Given the description of an element on the screen output the (x, y) to click on. 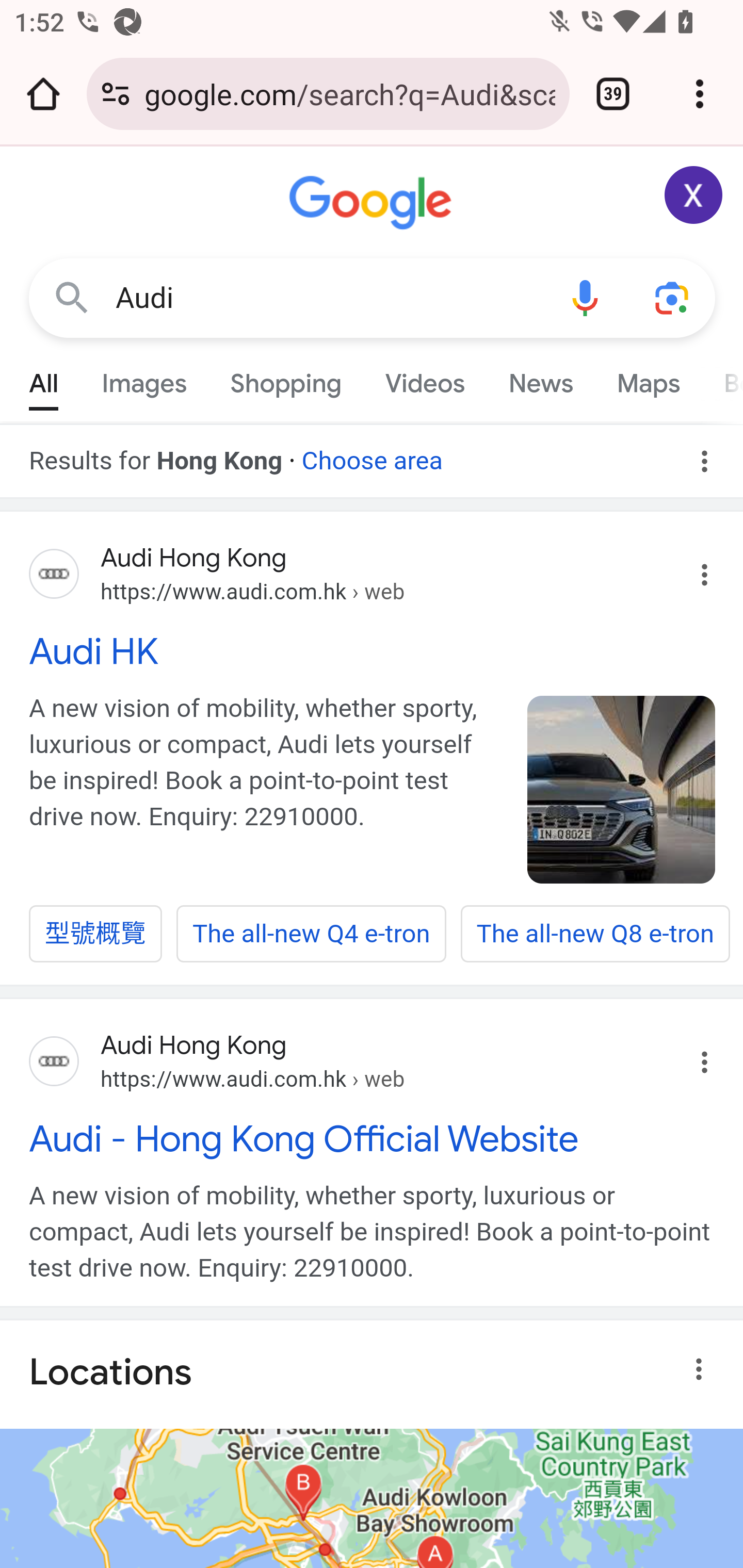
Open the home page (43, 93)
Connection is secure (115, 93)
Switch or close tabs (612, 93)
Customize and control Google Chrome (699, 93)
Google (372, 203)
Google Account: Xiaoran (zxrappiumtest@gmail.com) (694, 195)
Google Search (71, 296)
Search using your camera or photos (672, 296)
Audi (328, 297)
Images (144, 378)
Shopping (285, 378)
Videos (424, 378)
News (540, 378)
Maps (647, 378)
Choose area (371, 453)
Audi HK (372, 651)
tc (621, 789)
型號概覽 (96, 934)
The all-new Q4 e-tron (311, 934)
The all-new Q8 e-tron (594, 934)
Audi - Hong Kong Official Website (372, 1138)
About this result (702, 1369)
